Given the description of an element on the screen output the (x, y) to click on. 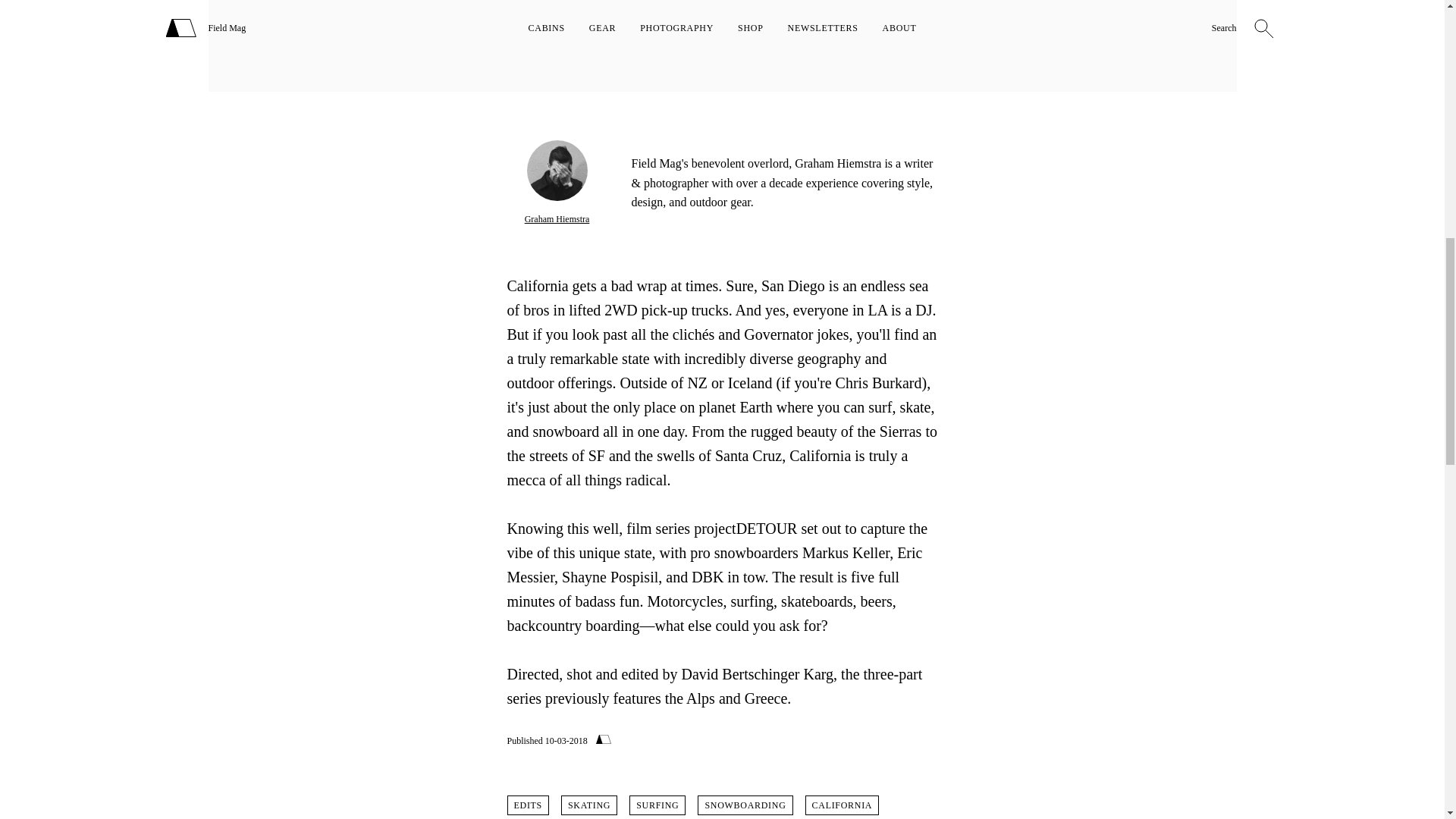
SURFING (656, 804)
Graham Hiemstra (556, 218)
SKATING (588, 804)
CALIFORNIA (842, 804)
SNOWBOARDING (744, 804)
EDITS (527, 804)
